Given the description of an element on the screen output the (x, y) to click on. 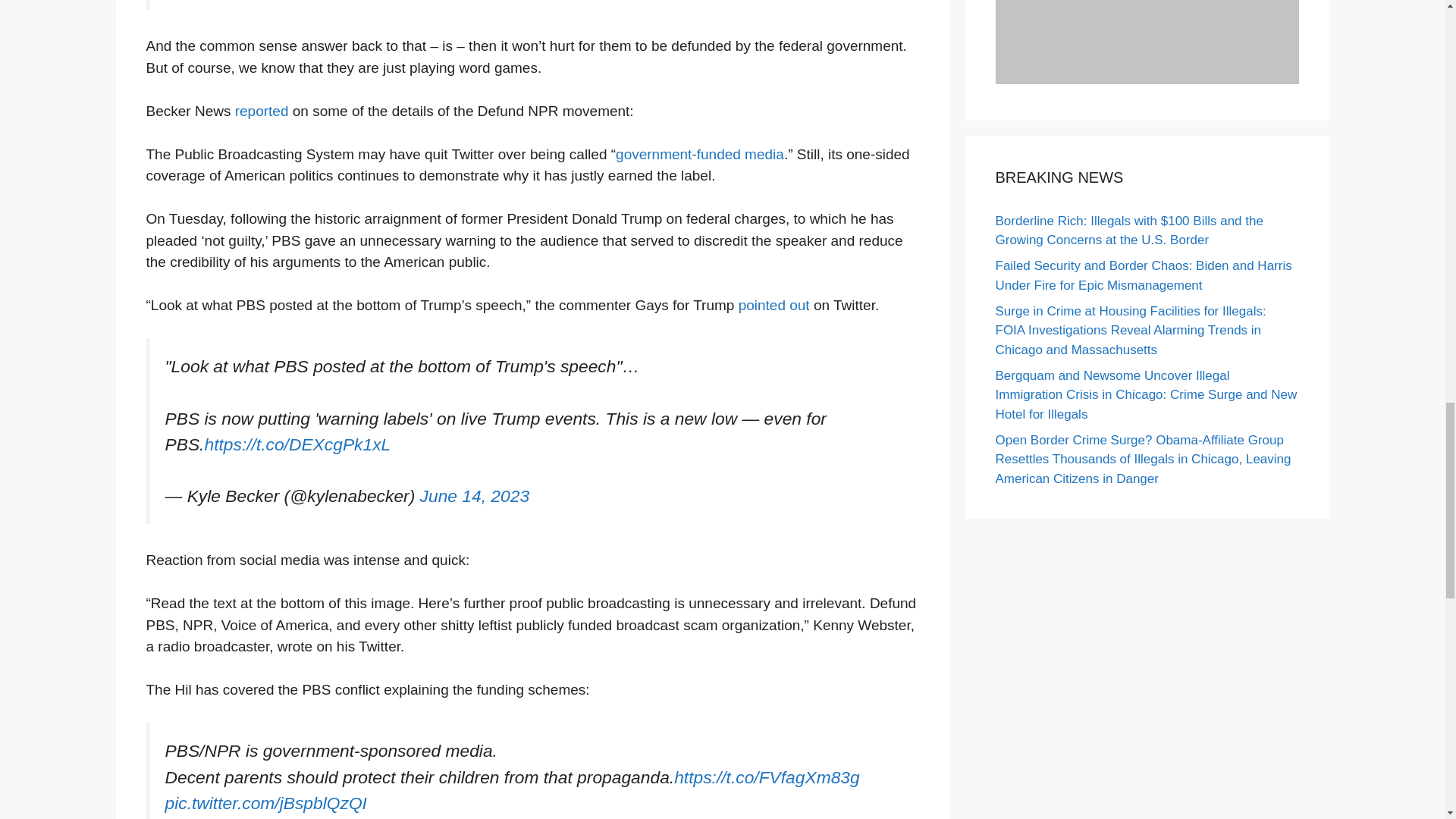
 reported (259, 110)
pointed out (773, 304)
government-funded media (699, 154)
reported (259, 110)
June 14, 2023 (474, 496)
